Given the description of an element on the screen output the (x, y) to click on. 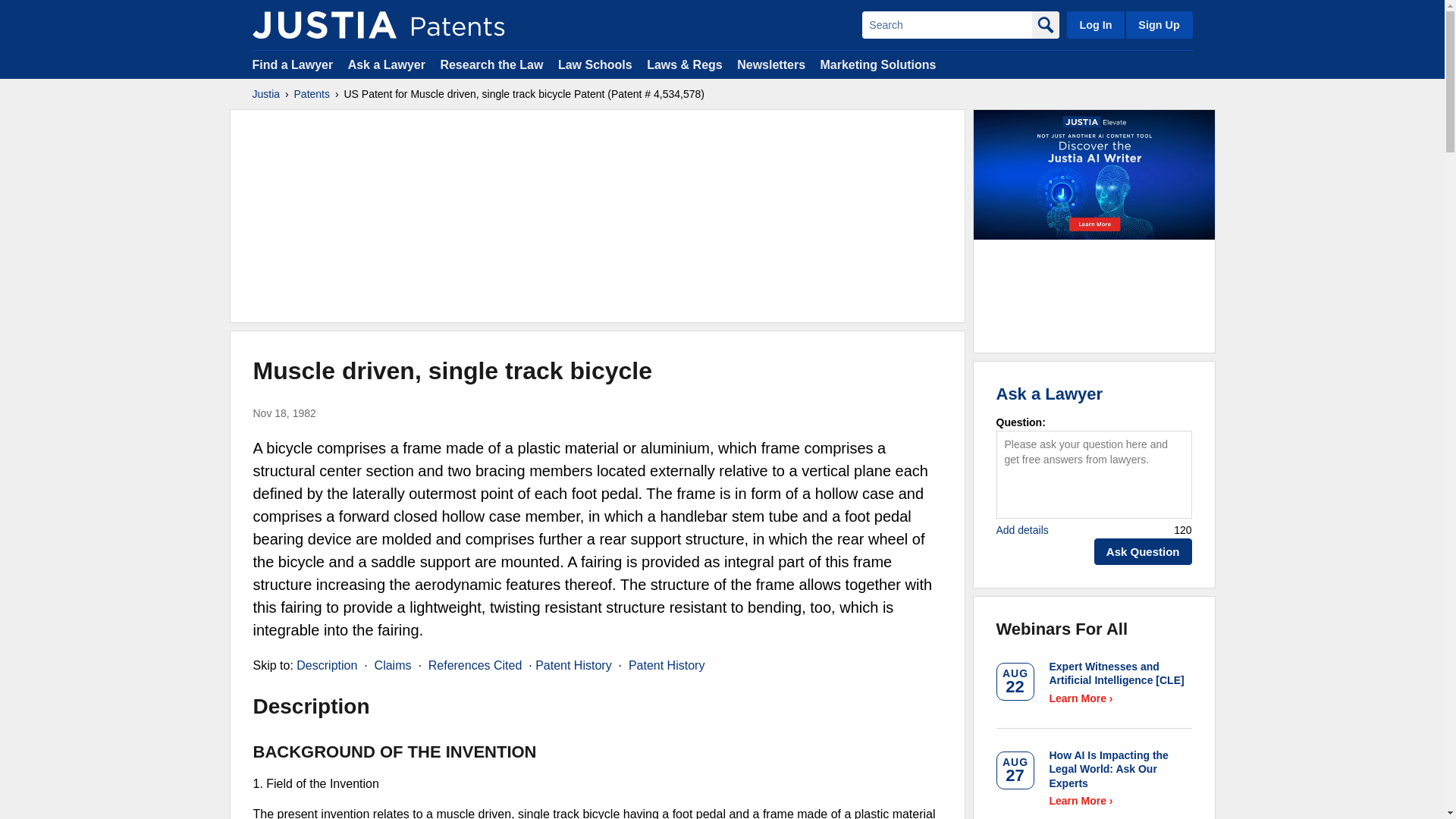
Patent History (666, 665)
Marketing Solutions (877, 64)
Law Schools (594, 64)
Research the Law (491, 64)
Search (945, 24)
Newsletters (770, 64)
Justia (265, 93)
Patent History (573, 665)
Description (326, 665)
